Given the description of an element on the screen output the (x, y) to click on. 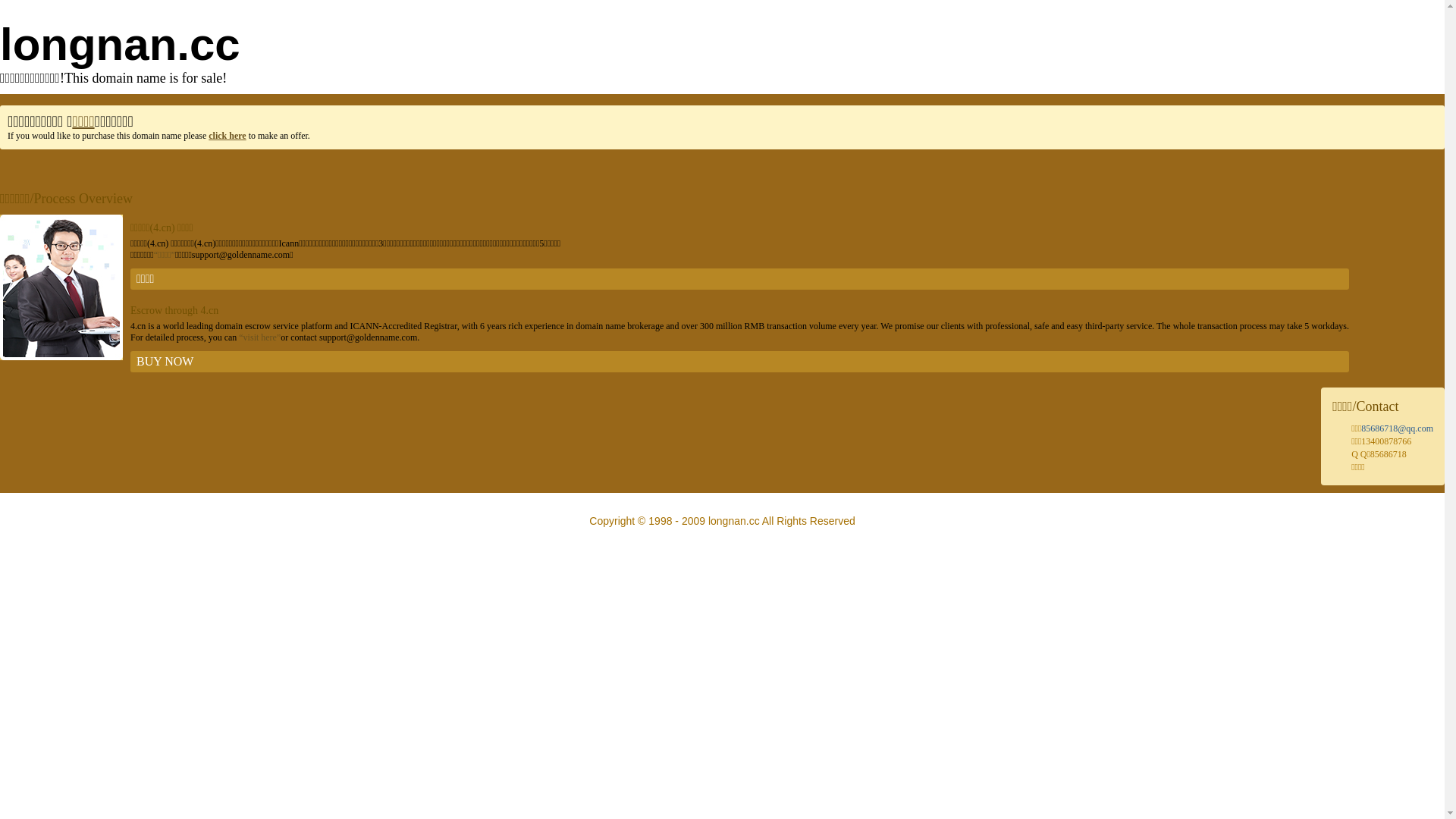
85686718@qq.com Element type: text (1397, 428)
click here Element type: text (226, 135)
BUY NOW Element type: text (739, 361)
